Given the description of an element on the screen output the (x, y) to click on. 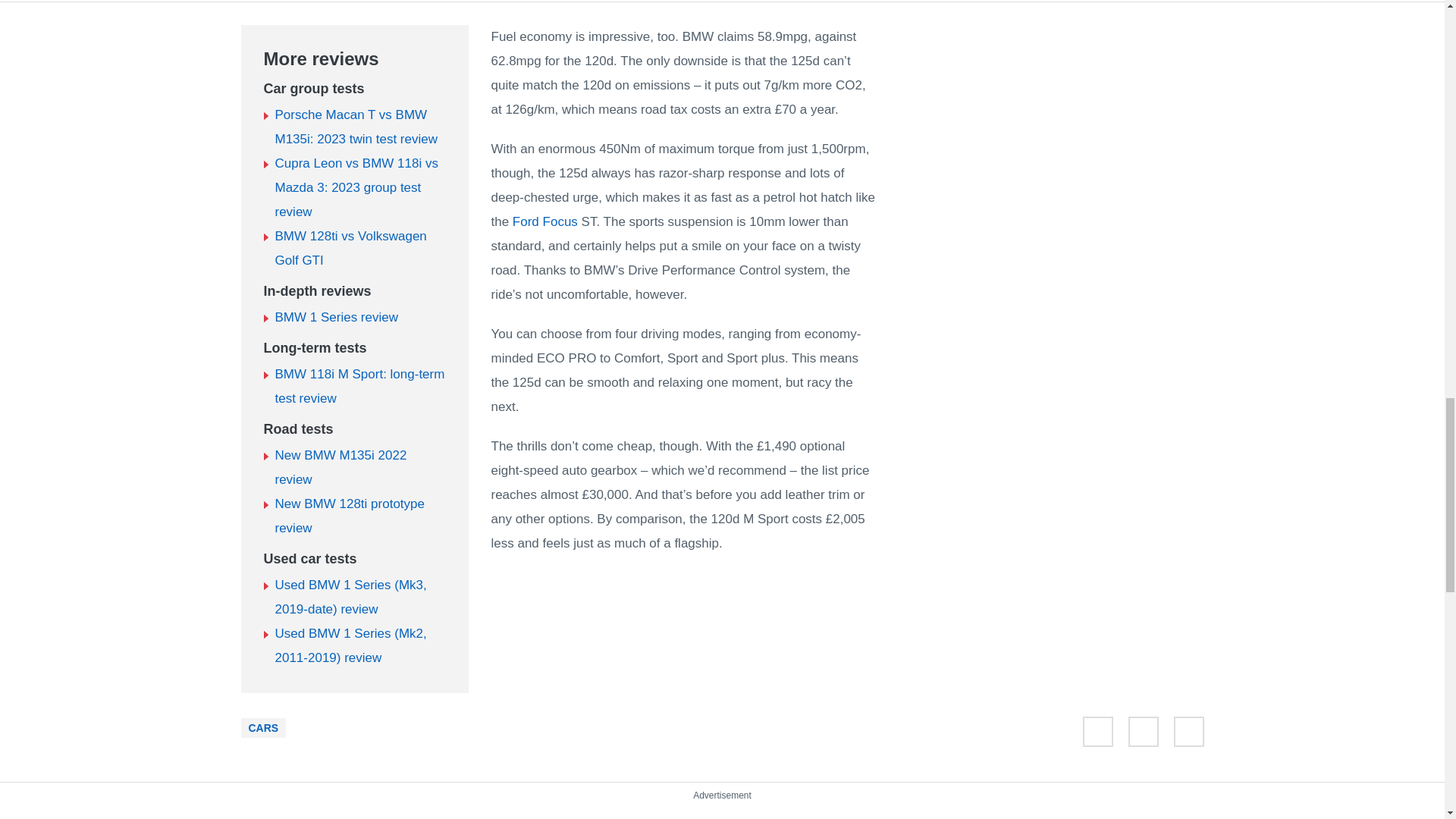
New BMW M135i 2022 review (340, 466)
New BMW 128ti prototype review (349, 515)
Cupra Leon vs BMW 118i vs Mazda 3: 2023 group test review (356, 187)
Ford Focus (545, 221)
BMW 118i M Sport: long-term test review (359, 385)
BMW 1 Series review (336, 317)
BMW 128ti vs Volkswagen Golf GTI (350, 248)
Porsche Macan T vs BMW M135i: 2023 twin test review (356, 126)
